Given the description of an element on the screen output the (x, y) to click on. 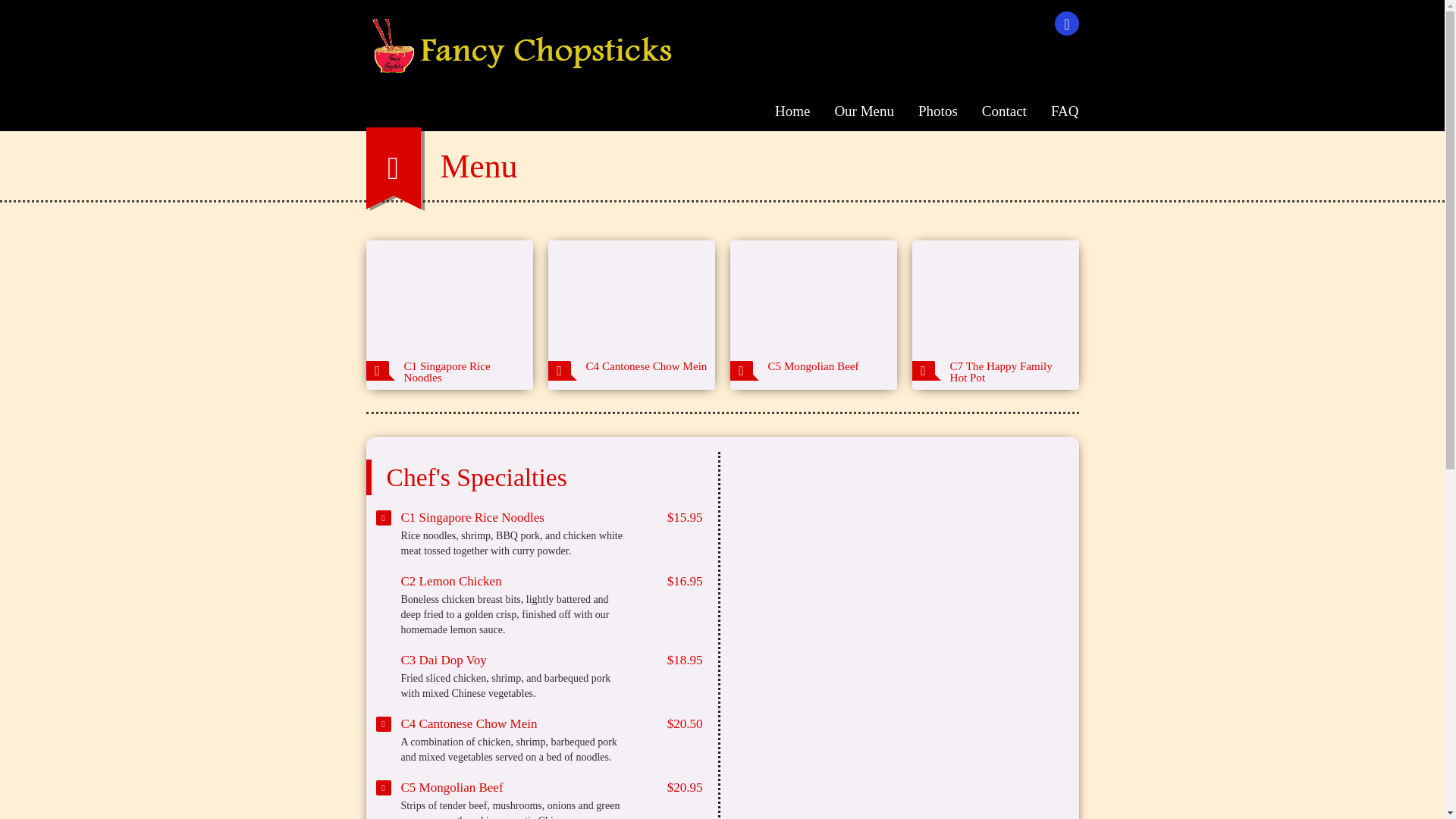
Contact (1004, 111)
Photos (937, 111)
Home (792, 111)
FAQ (1058, 111)
Our Menu (863, 111)
